Given the description of an element on the screen output the (x, y) to click on. 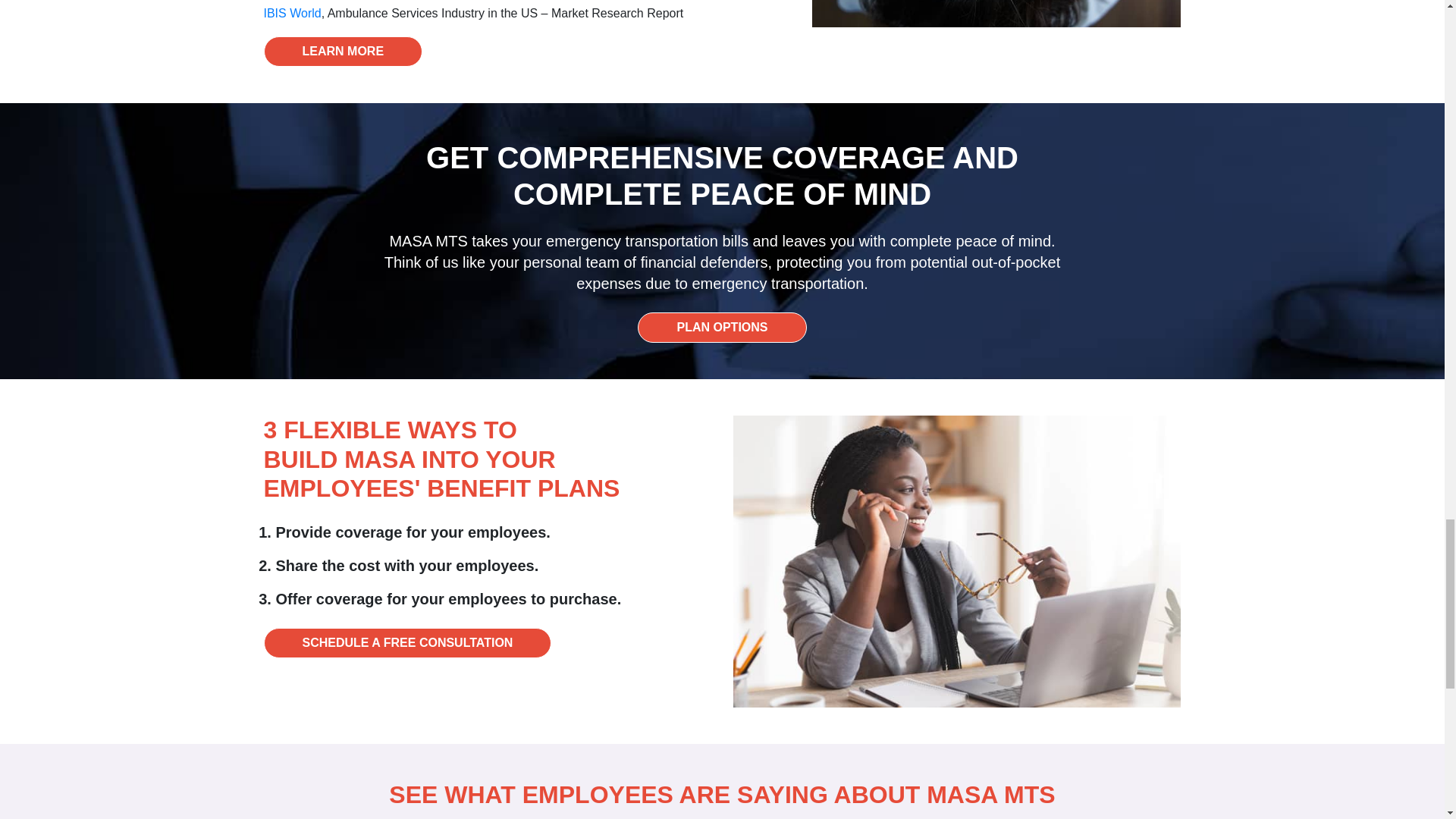
LEARN MORE (343, 51)
PLAN OPTIONS (721, 327)
SCHEDULE A FREE CONSULTATION (407, 643)
IBIS World (292, 12)
